Given the description of an element on the screen output the (x, y) to click on. 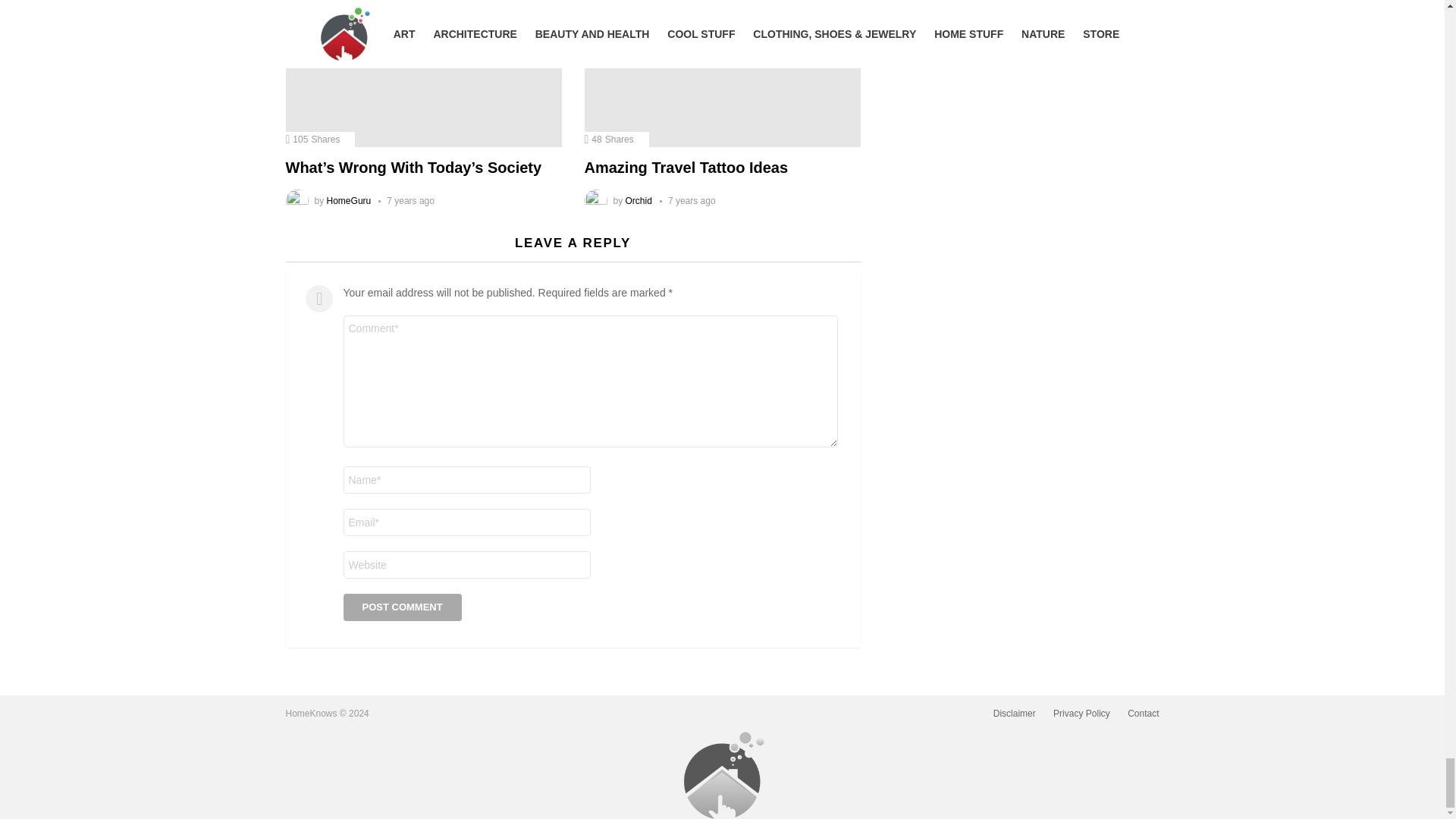
Post Comment (401, 606)
